Given the description of an element on the screen output the (x, y) to click on. 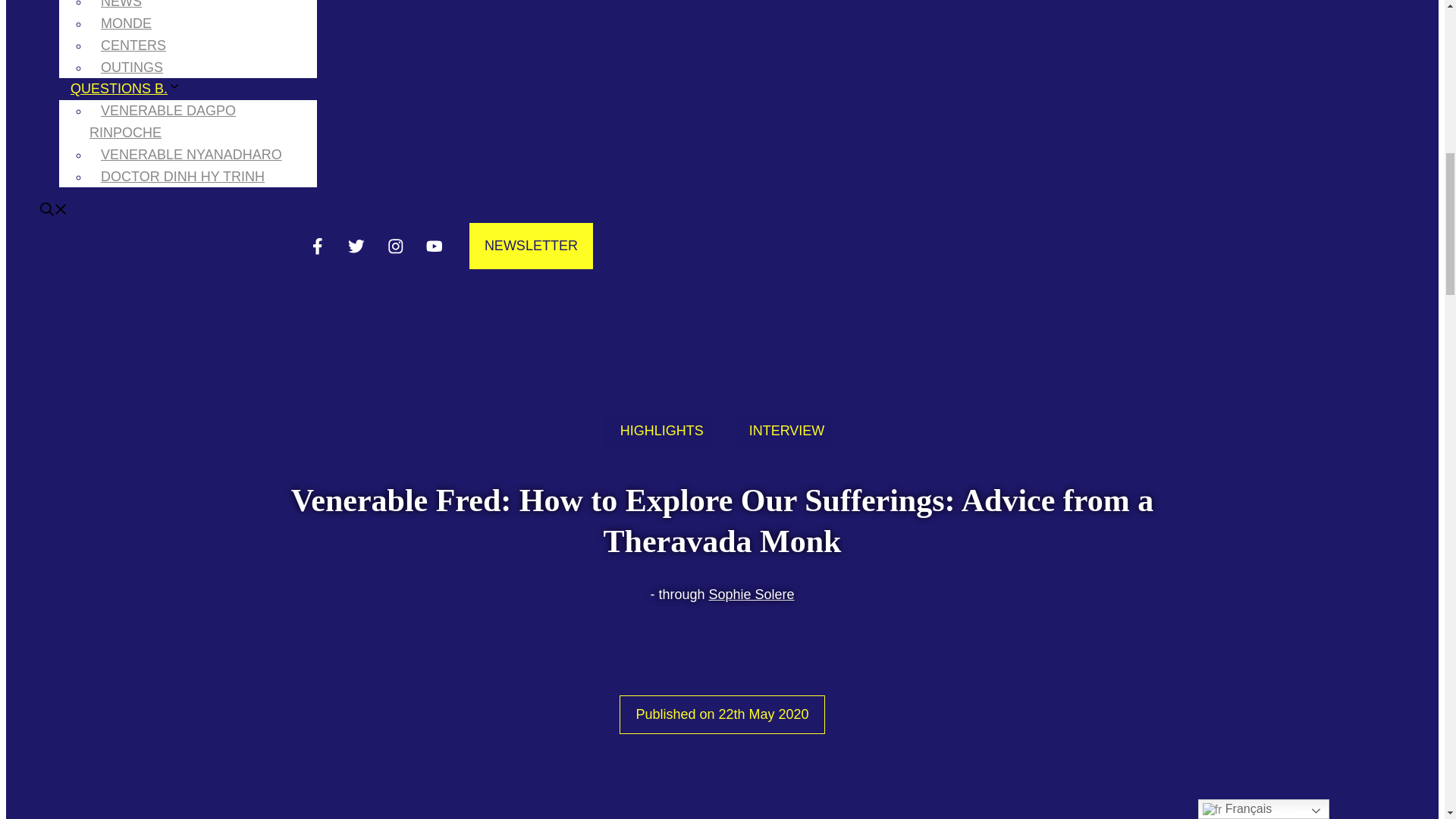
NEWS (120, 12)
MONDE (125, 22)
CENTERS (132, 44)
OUTINGS (131, 67)
QUESTIONS B. (131, 88)
DOCTOR DINH HY TRINH (182, 176)
VENERABLE DAGPO RINPOCHE (161, 121)
VENERABLE NYANADHARO (191, 154)
